Given the description of an element on the screen output the (x, y) to click on. 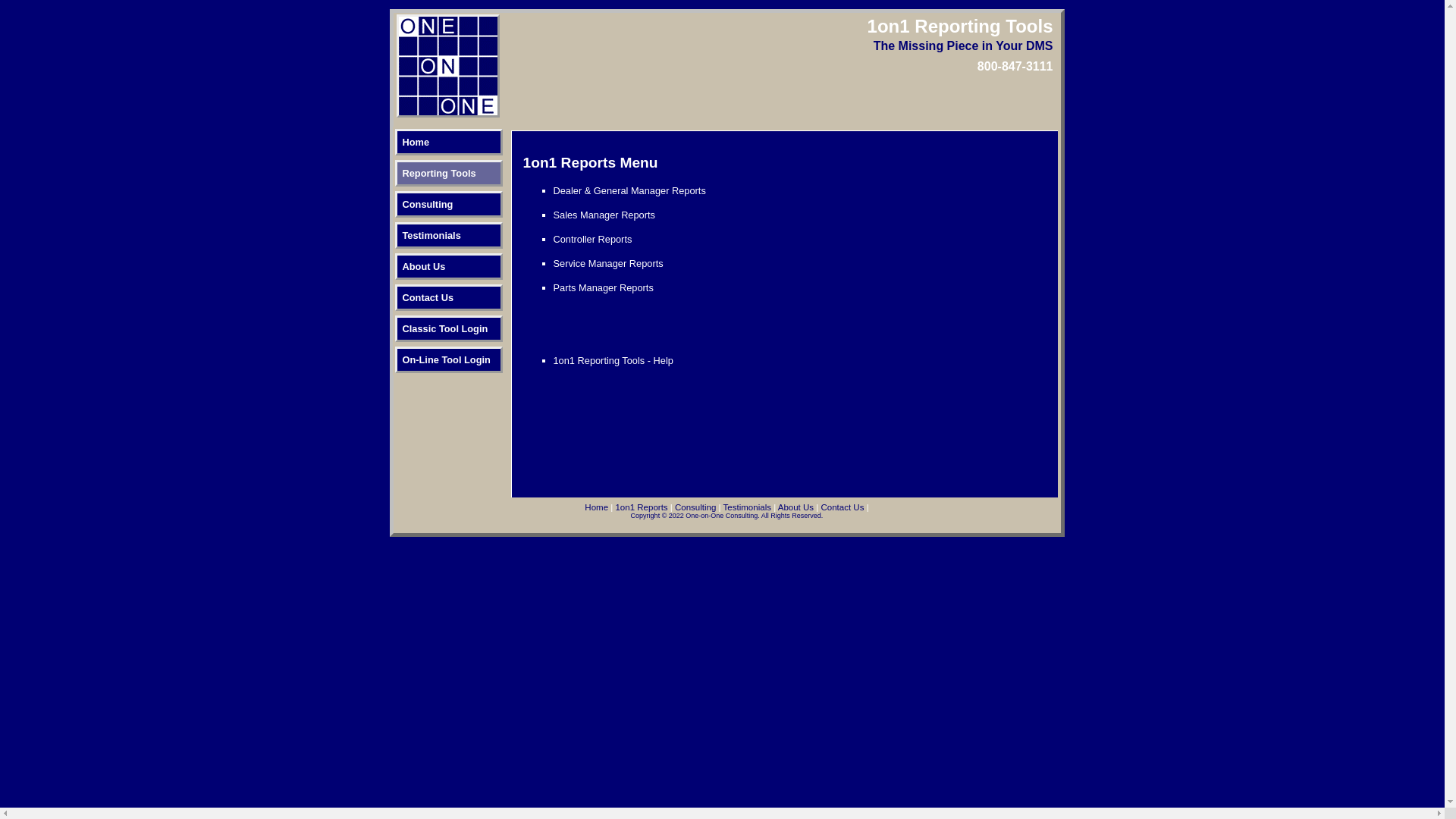
1on1 Reporting Tools - Help Element type: text (613, 360)
Dealer & General Manager Reports Element type: text (629, 190)
Contact Us Element type: text (841, 506)
Parts Manager Reports Element type: text (603, 287)
Classic Tool Login Element type: text (448, 328)
Service Manager Reports Element type: text (608, 263)
Testimonials Element type: text (748, 506)
Consulting Element type: text (694, 506)
About Us Element type: text (795, 506)
Controller Reports Element type: text (592, 238)
1on1 Reports Element type: text (641, 506)
About Us Element type: text (448, 266)
Contact Us Element type: text (448, 297)
Home Element type: text (448, 141)
On-Line Tool Login Element type: text (448, 359)
Home Element type: text (596, 506)
Reporting Tools Element type: text (448, 173)
Consulting Element type: text (448, 204)
Sales Manager Reports Element type: text (604, 214)
Testimonials Element type: text (448, 235)
